Given the description of an element on the screen output the (x, y) to click on. 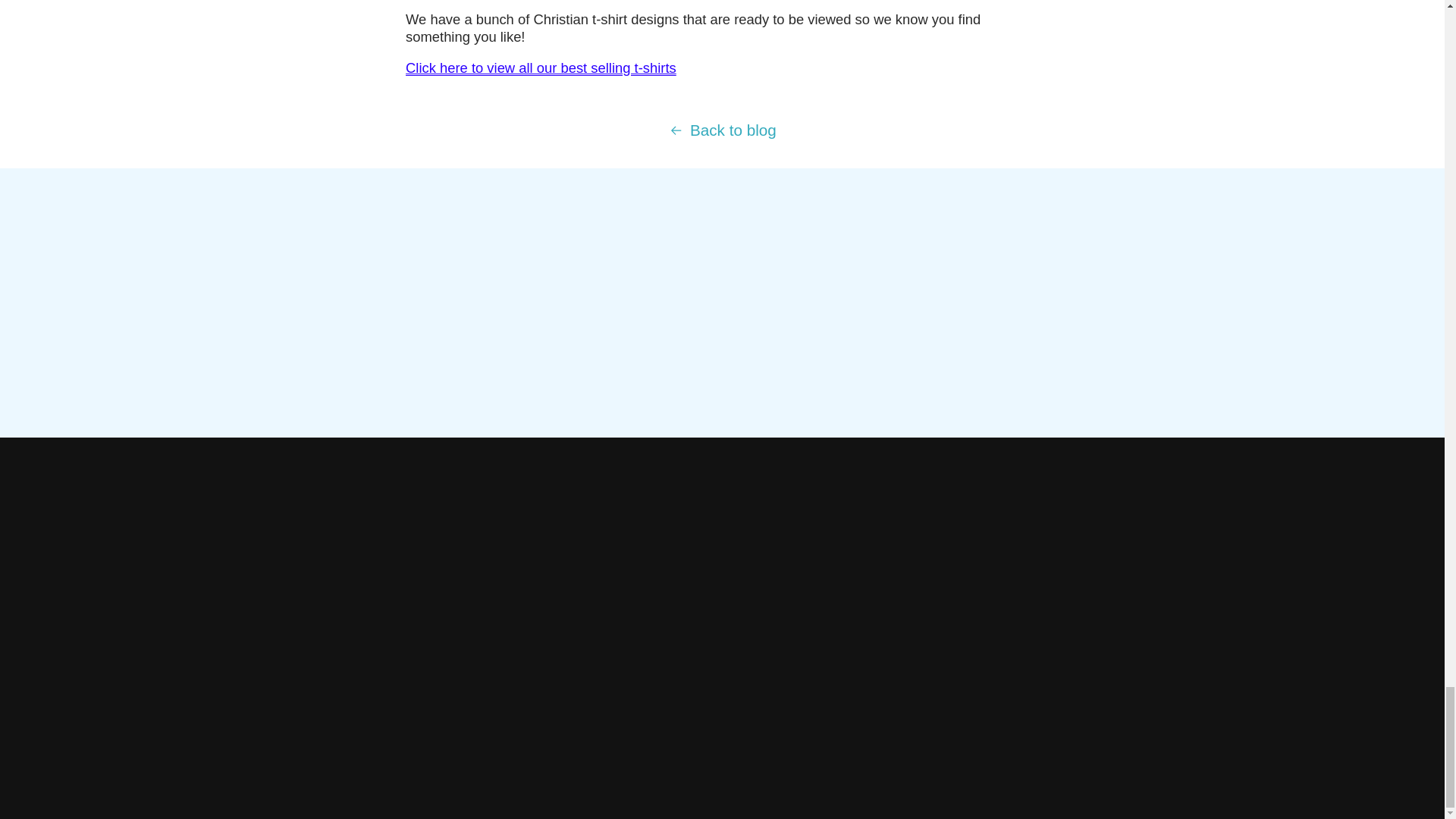
best selling christian t-shirts (541, 67)
